Given the description of an element on the screen output the (x, y) to click on. 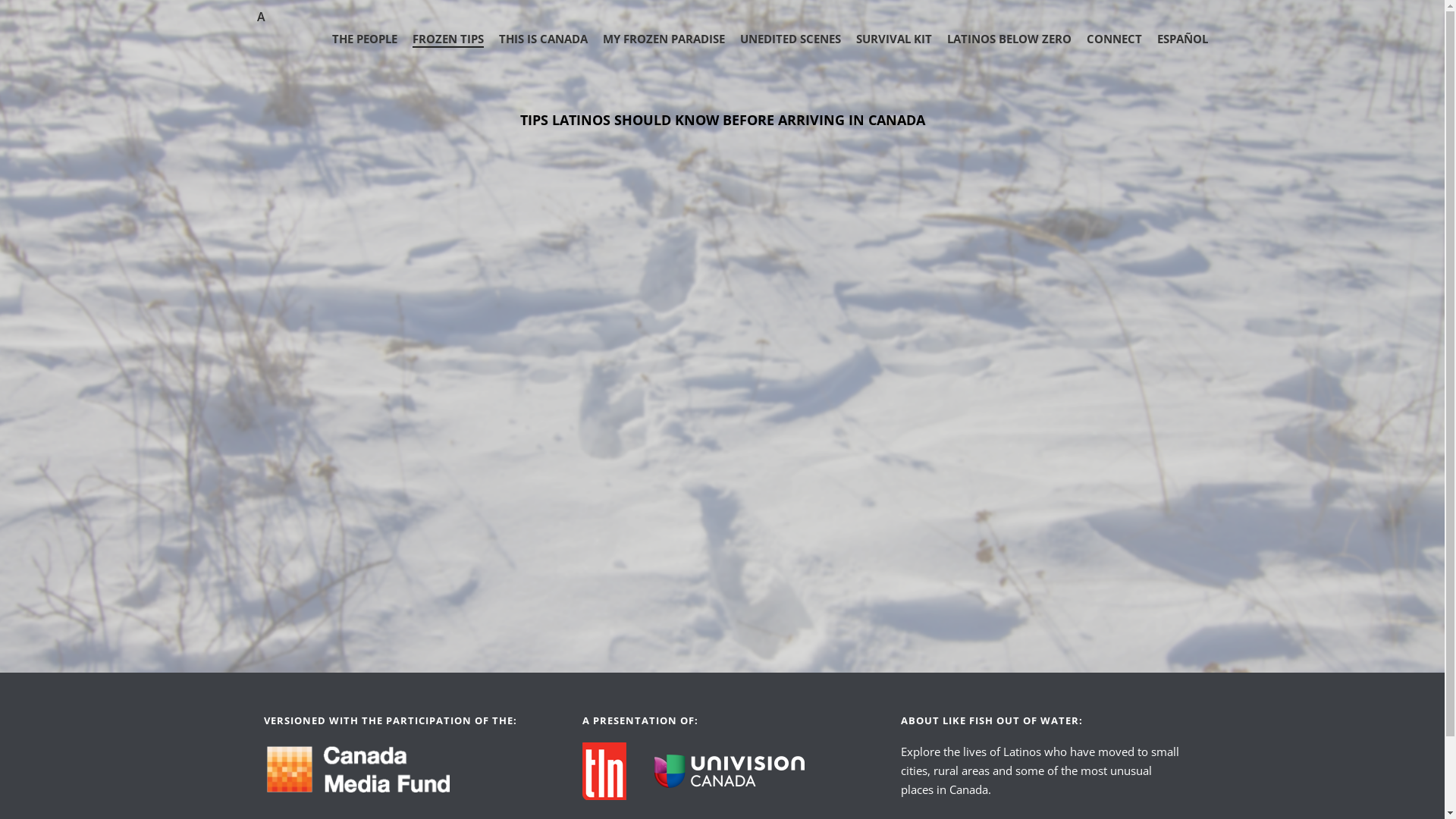
          Element type: text (617, 769)
MY FROZEN PARADISE Element type: text (662, 39)
SURVIVAL KIT Element type: text (892, 39)
FROZEN TIPS Element type: text (447, 39)
CONNECT Element type: text (1113, 39)
UNEDITED SCENES Element type: text (790, 39)
THE PEOPLE Element type: text (364, 39)
THIS IS CANADA Element type: text (543, 39)
LATINOS BELOW ZERO Element type: text (1008, 39)
